Given the description of an element on the screen output the (x, y) to click on. 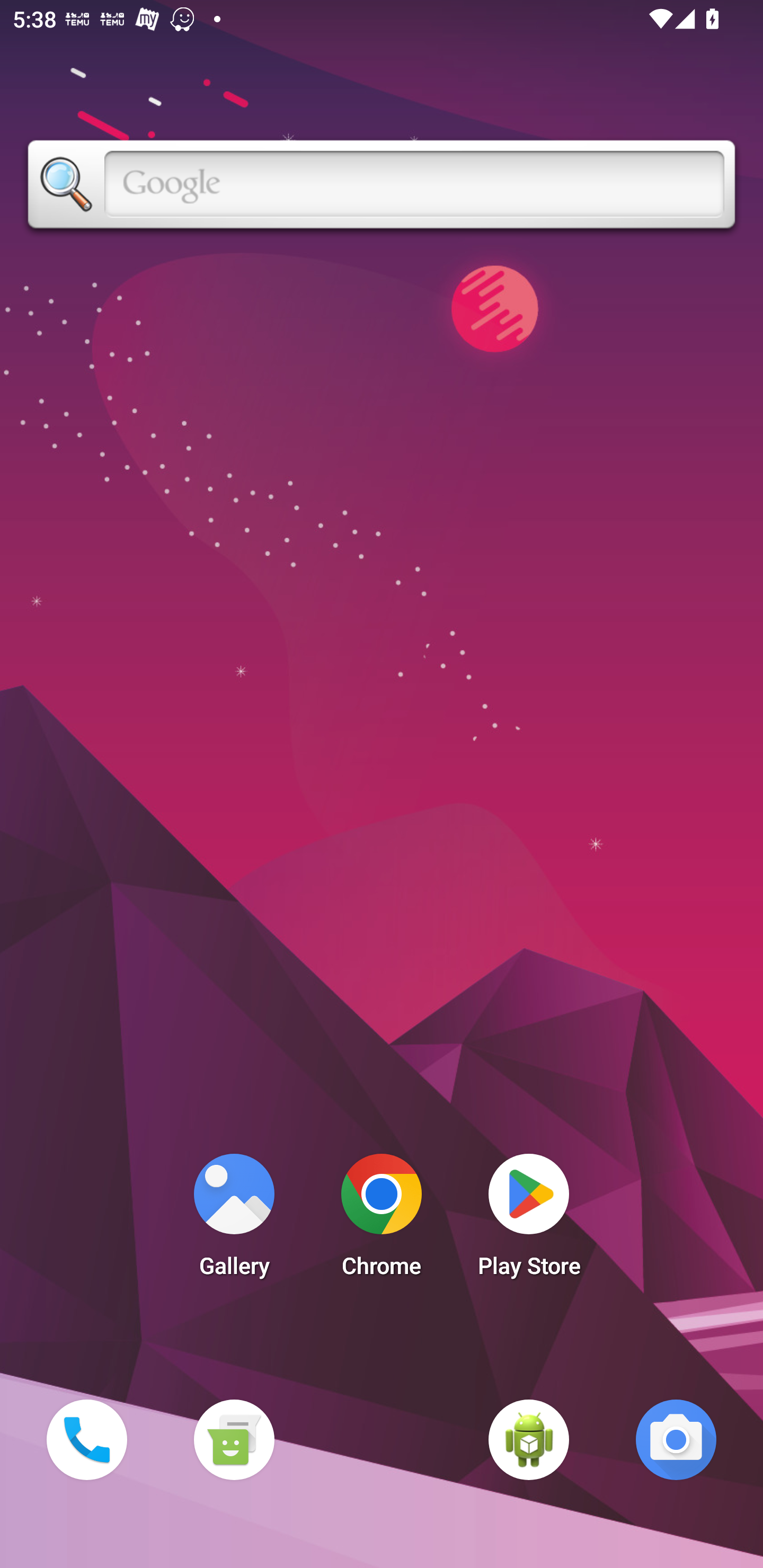
Gallery (233, 1220)
Chrome (381, 1220)
Play Store (528, 1220)
Phone (86, 1439)
Messaging (233, 1439)
WebView Browser Tester (528, 1439)
Camera (676, 1439)
